Given the description of an element on the screen output the (x, y) to click on. 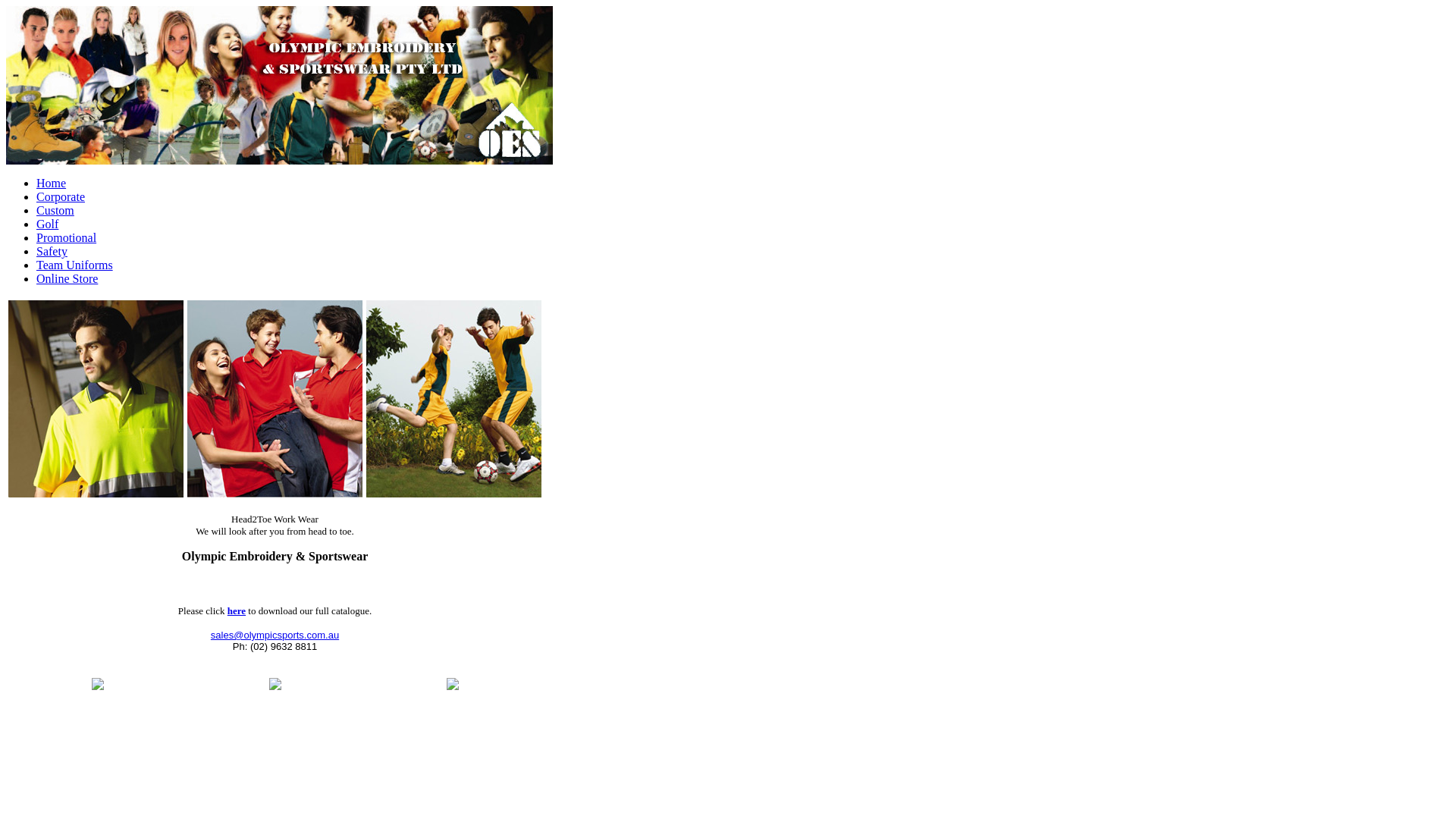
Safety Element type: text (51, 250)
Promotional Element type: text (66, 237)
here Element type: text (236, 609)
Custom Element type: text (55, 209)
sales@olympicsports.com.au Element type: text (274, 634)
Online Store Element type: text (66, 278)
Team Uniforms Element type: text (74, 264)
Home Element type: text (50, 182)
Golf Element type: text (47, 223)
Corporate Element type: text (60, 196)
